Given the description of an element on the screen output the (x, y) to click on. 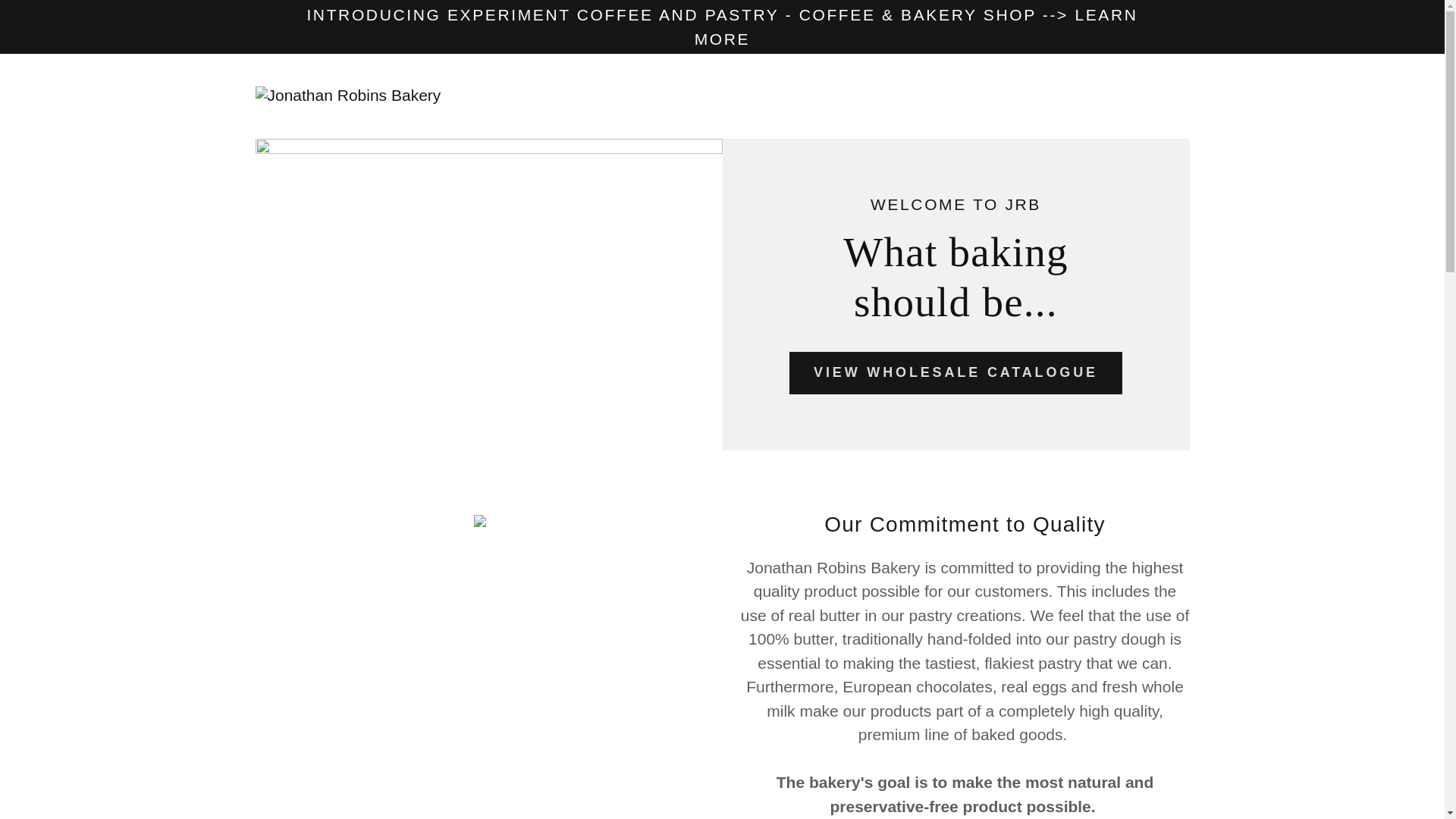
VIEW WHOLESALE CATALOGUE (955, 372)
Jonathan Robins Bakery (347, 92)
